Given the description of an element on the screen output the (x, y) to click on. 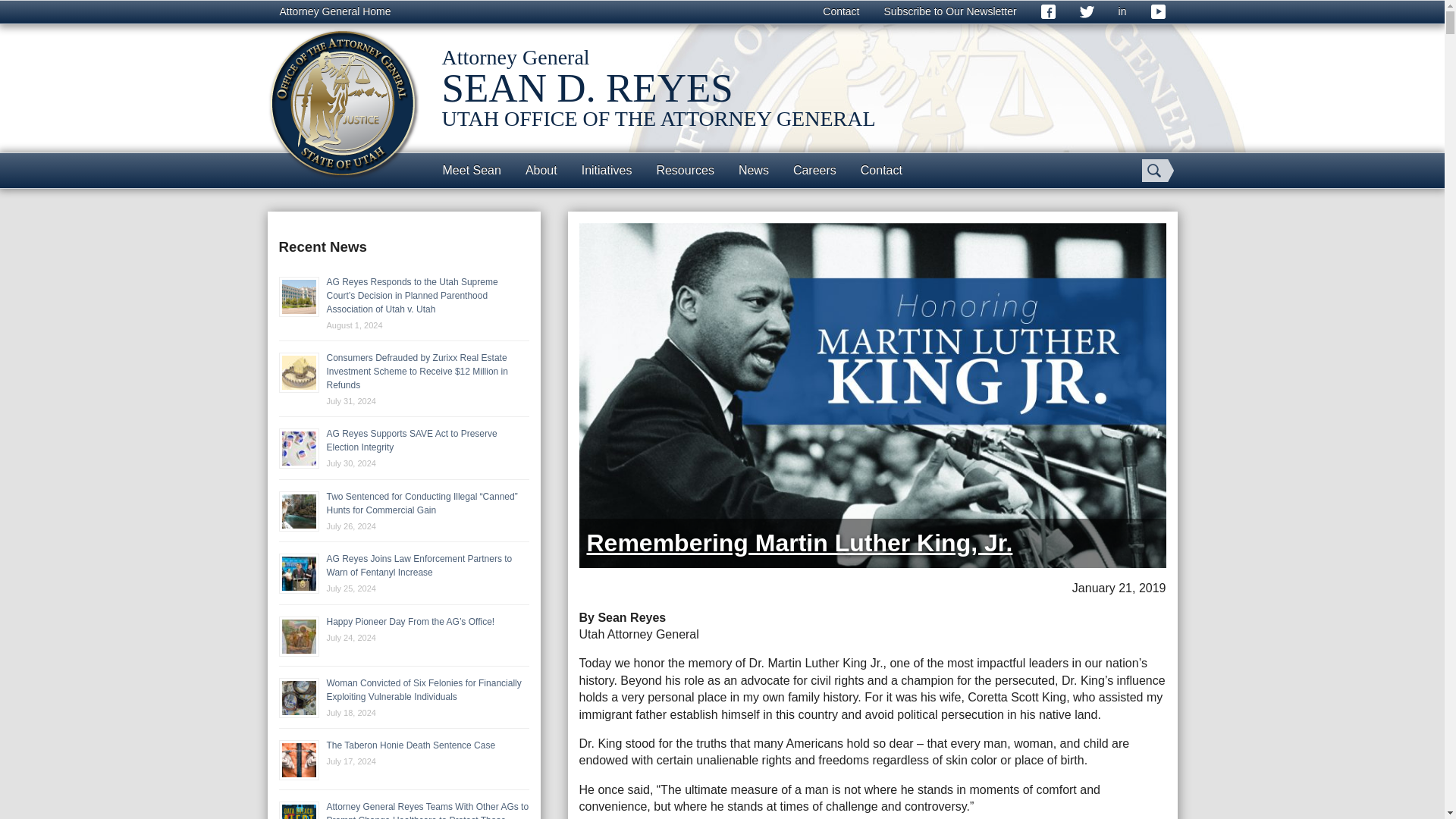
About (541, 170)
Subscribe to Our Newsletter (950, 11)
Resources (684, 170)
Permalink to Remembering Martin Luther King, Jr. (799, 542)
Twitter (1086, 11)
in (1122, 11)
Contact (840, 11)
Facebook (1048, 11)
Meet Sean (471, 170)
Initiatives (607, 170)
